Given the description of an element on the screen output the (x, y) to click on. 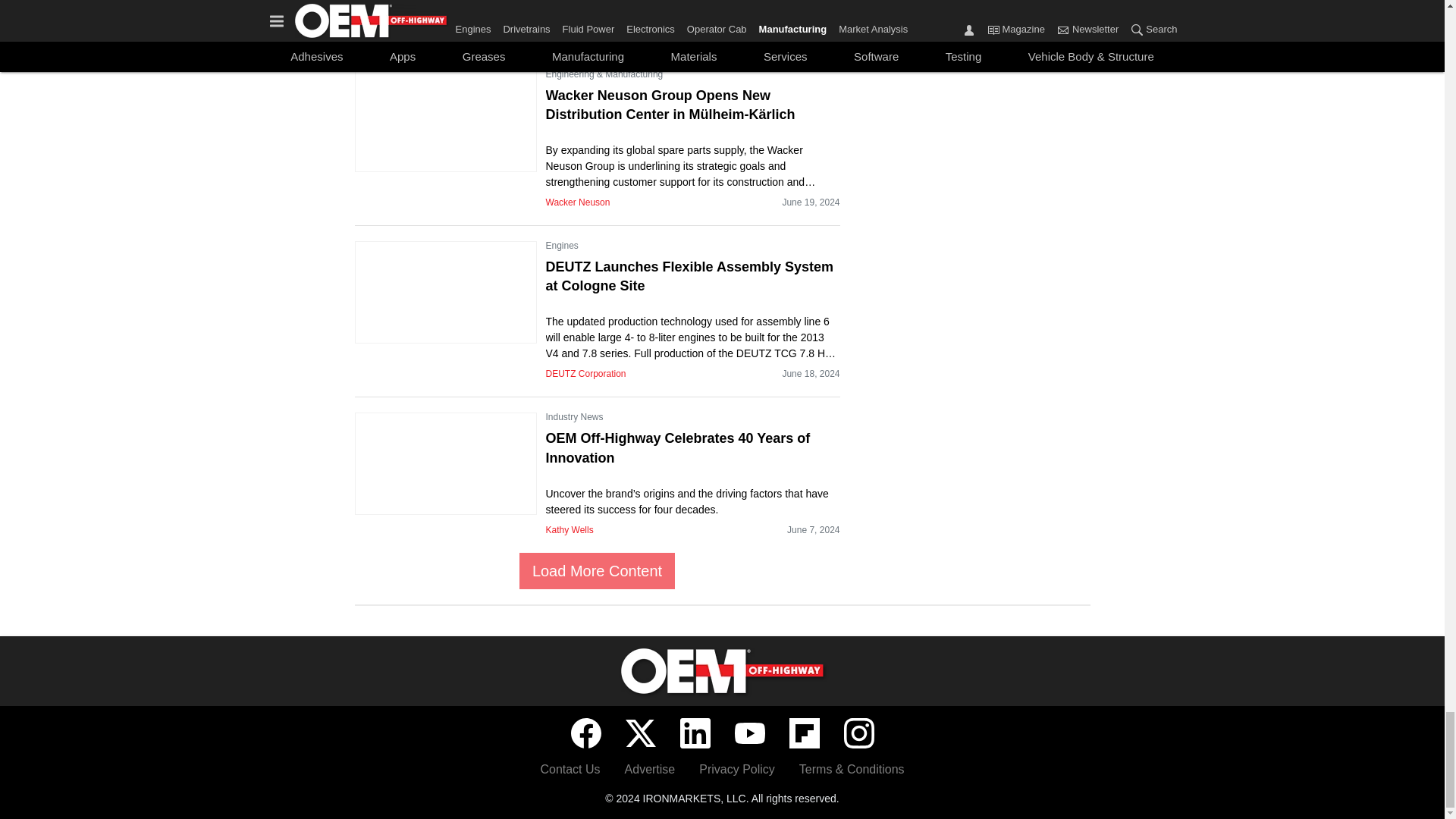
Flipboard icon (803, 733)
Twitter X icon (639, 733)
LinkedIn icon (694, 733)
Facebook icon (584, 733)
YouTube icon (748, 733)
